Given the description of an element on the screen output the (x, y) to click on. 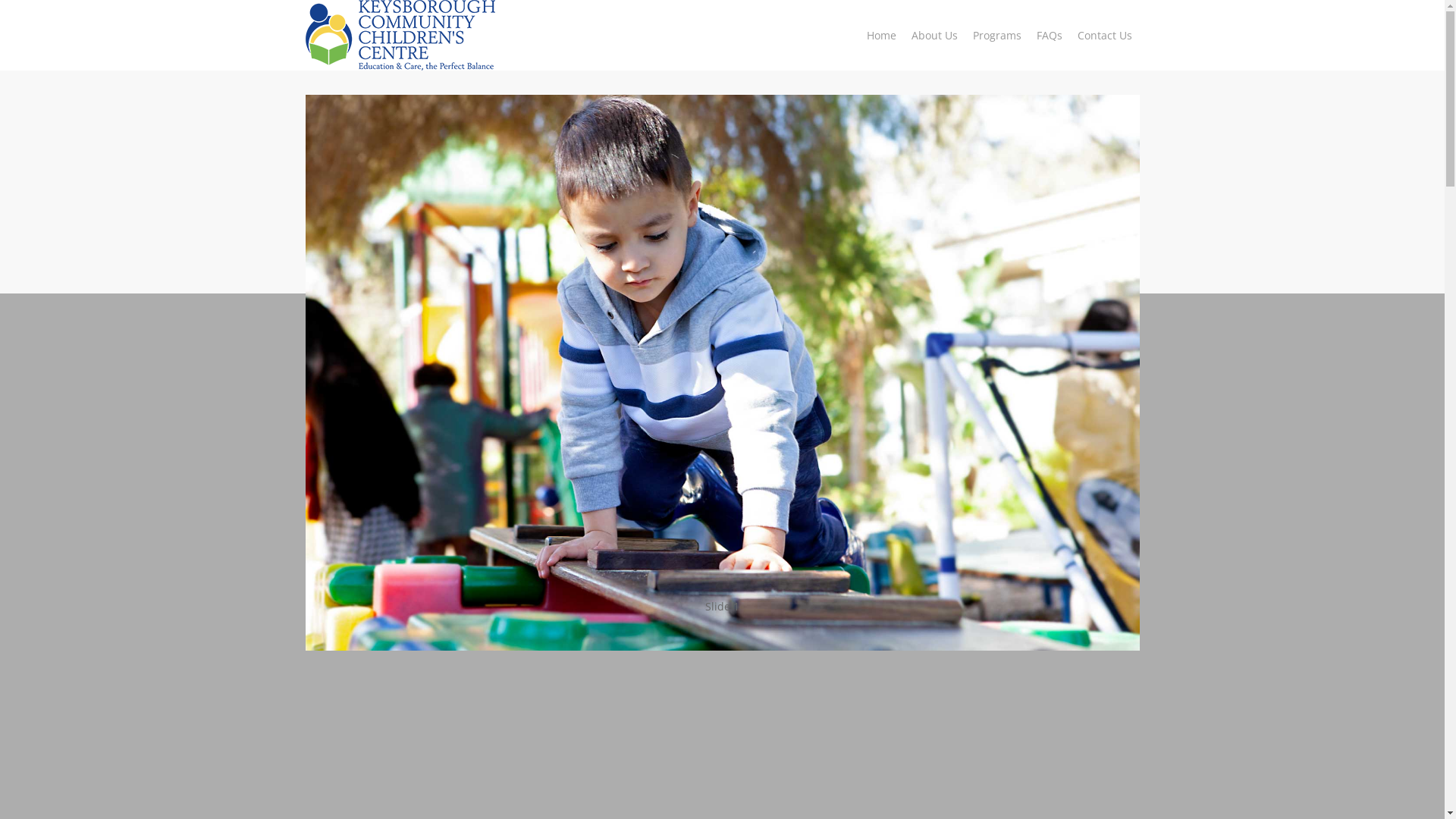
Programs Element type: text (996, 34)
Home Element type: text (880, 34)
About Us Element type: text (934, 34)
FAQs Element type: text (1048, 34)
Contact Us Element type: text (1104, 34)
